Given the description of an element on the screen output the (x, y) to click on. 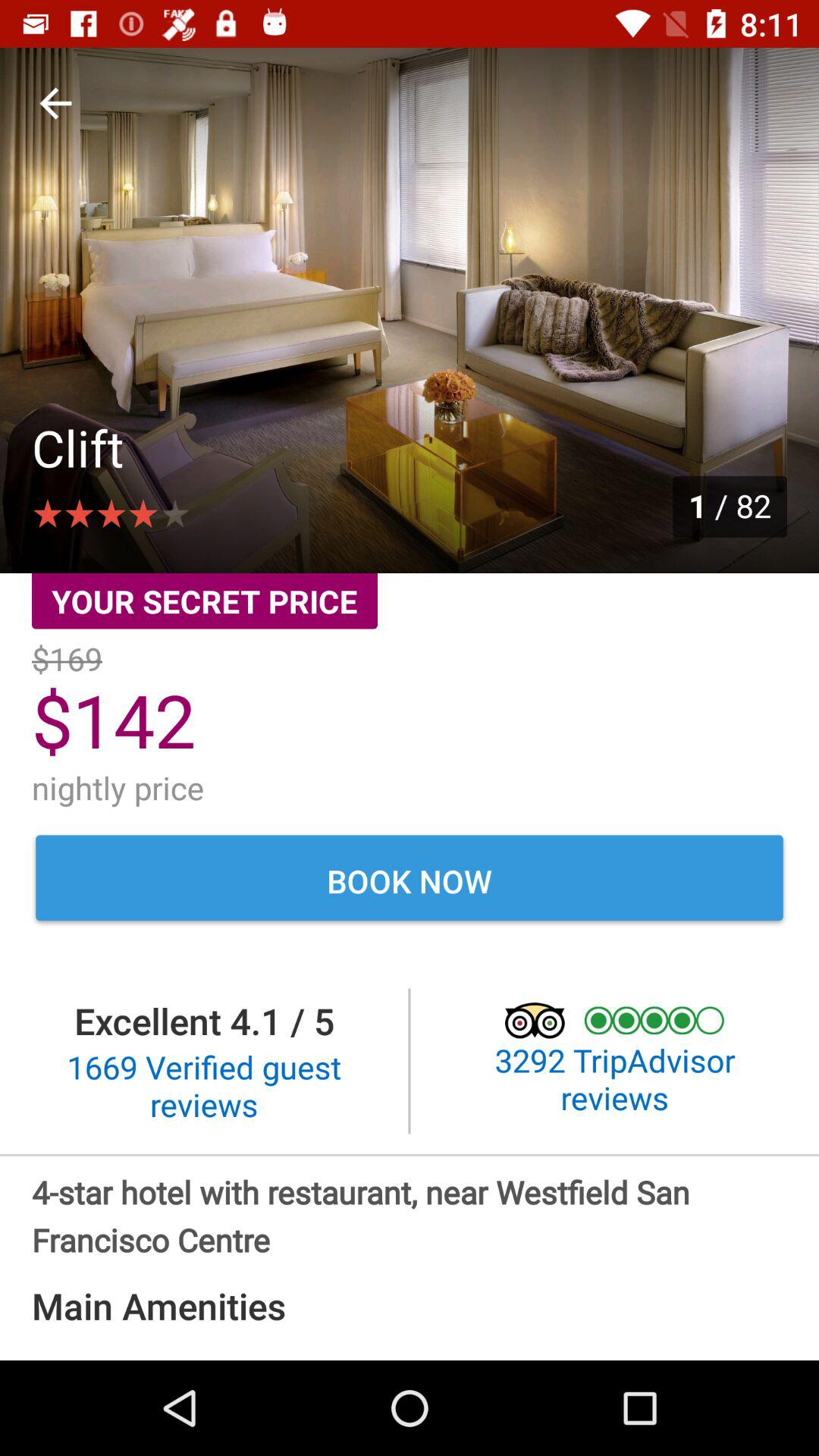
tap book now (409, 880)
